Given the description of an element on the screen output the (x, y) to click on. 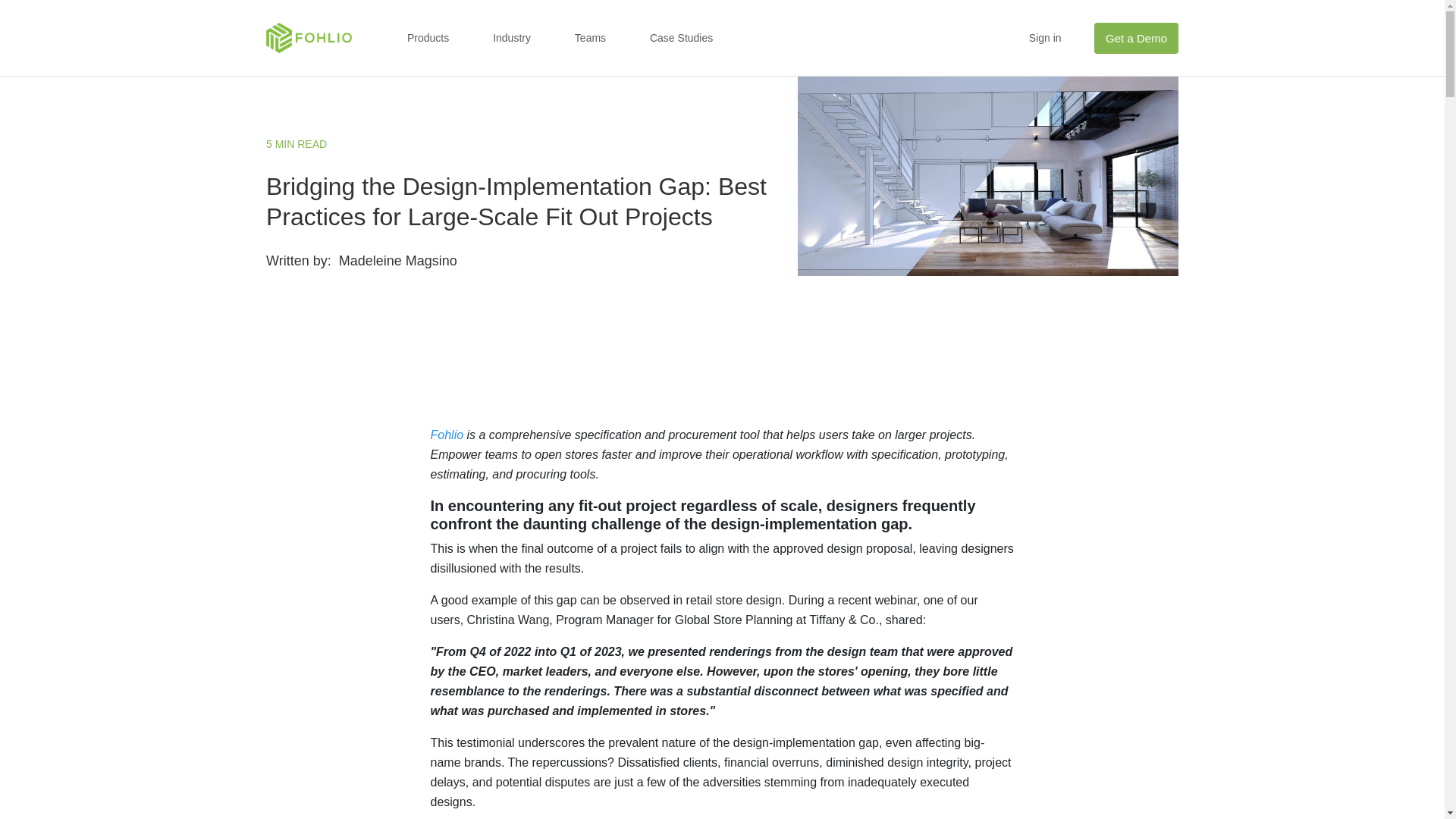
Case Studies (681, 37)
Industry (512, 37)
Sign in (1045, 37)
Get a Demo (1135, 38)
Fohlio (447, 434)
Sign in (1045, 37)
Products (427, 37)
Get a Demo (1135, 38)
Teams (590, 37)
